Given the description of an element on the screen output the (x, y) to click on. 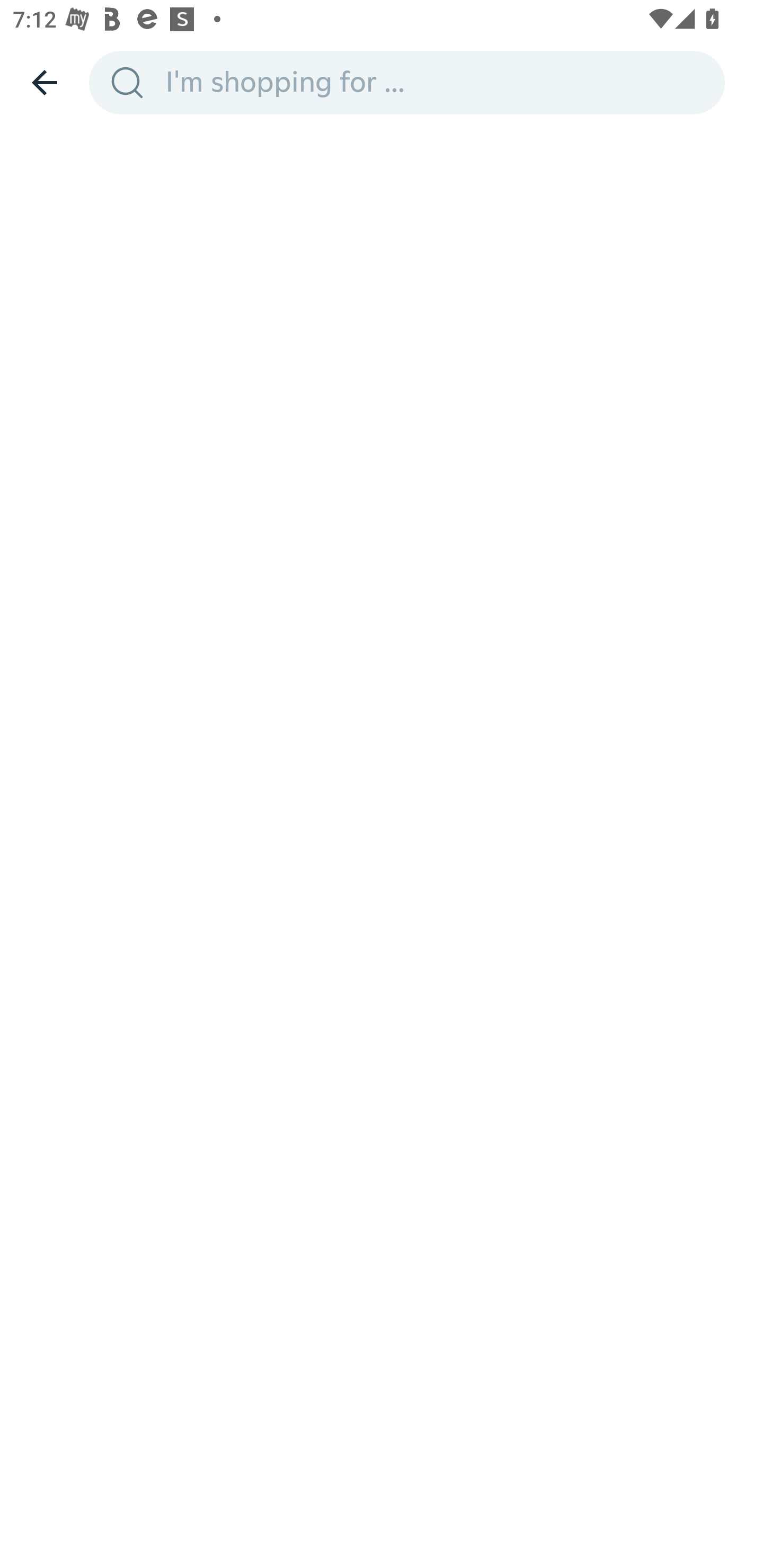
Navigate up (44, 82)
I'm shopping for ... (438, 81)
